Given the description of an element on the screen output the (x, y) to click on. 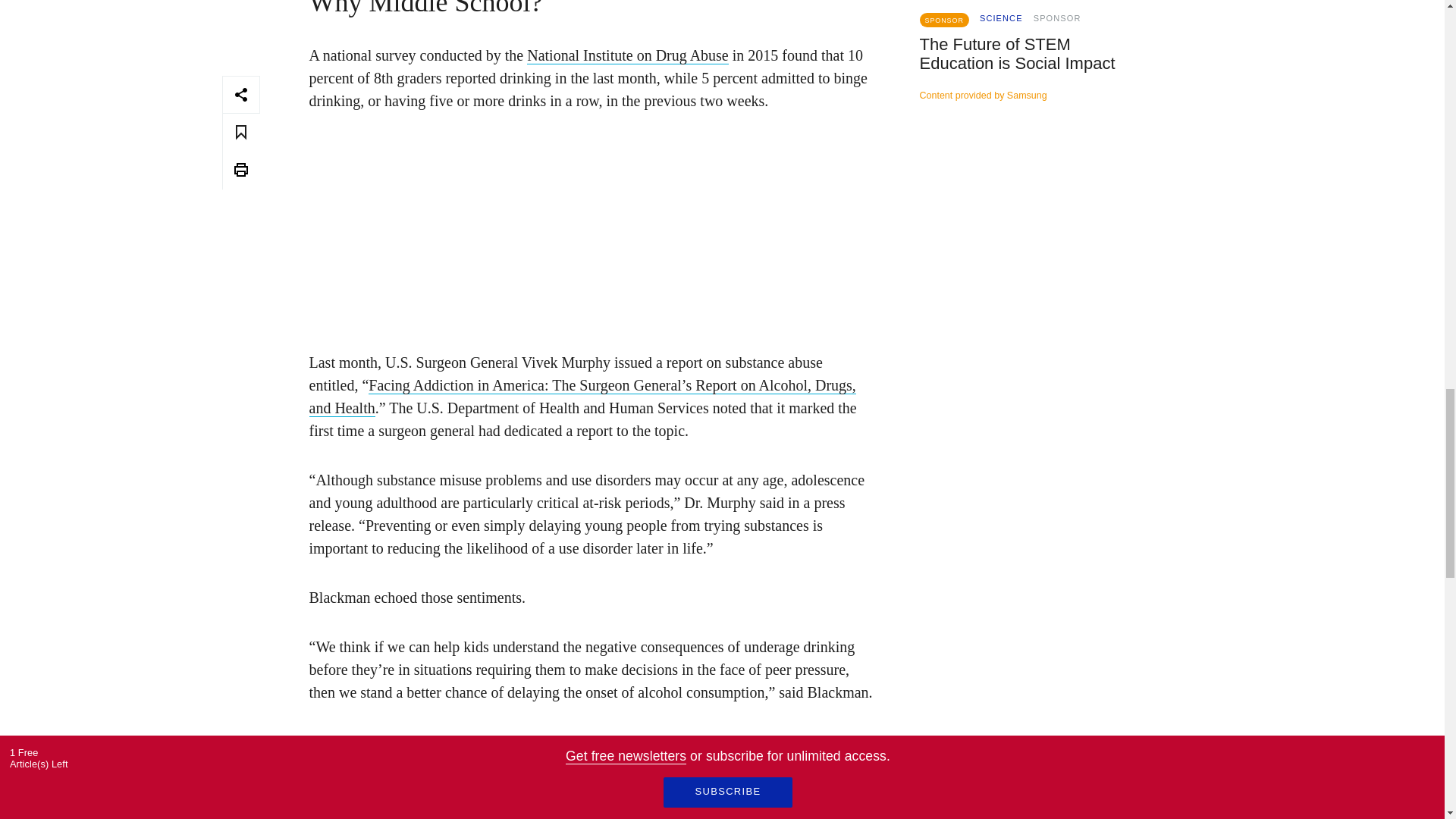
3rd party ad content (1070, 257)
3rd party ad content (590, 229)
